Given the description of an element on the screen output the (x, y) to click on. 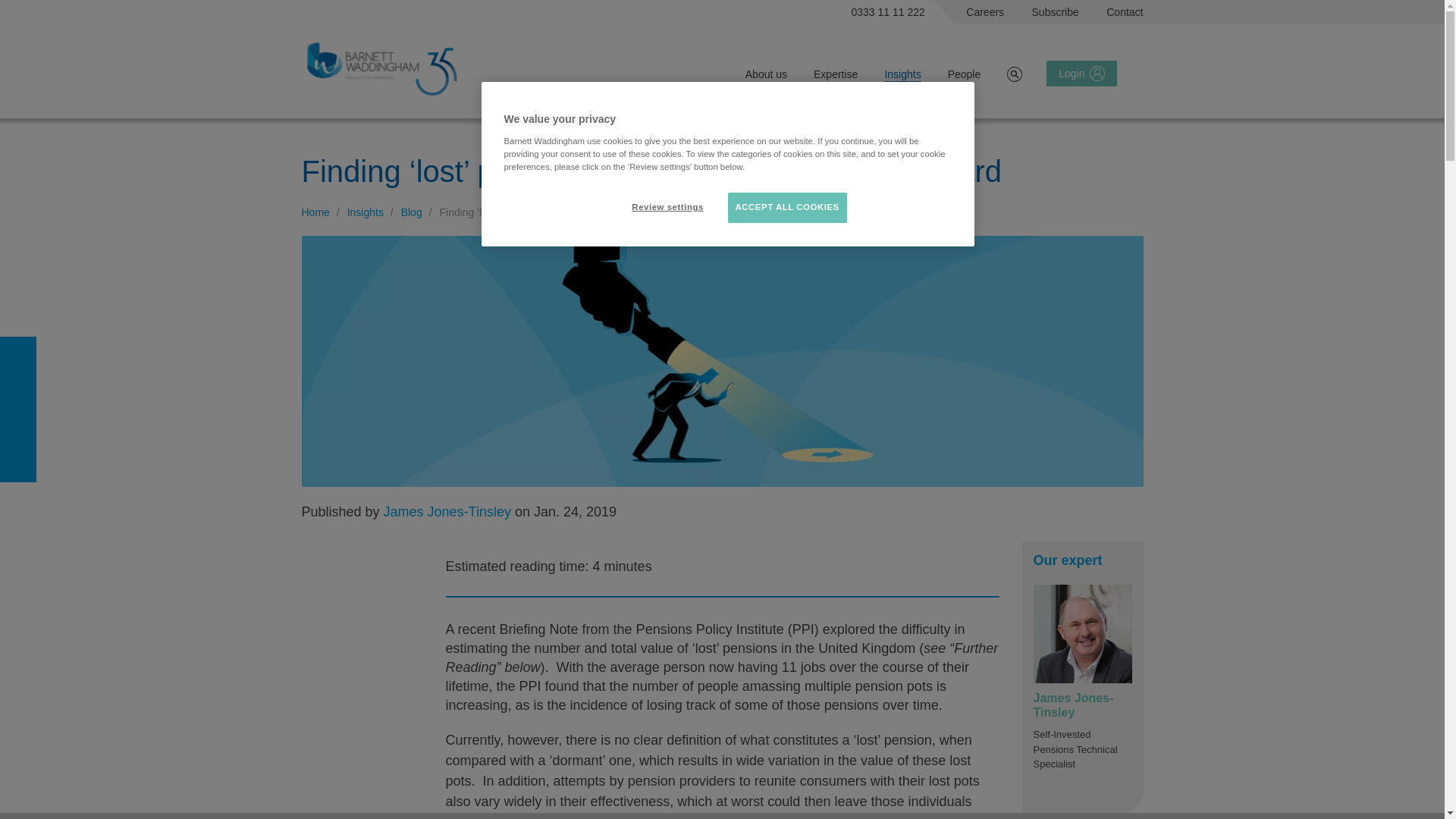
Subscribe (1055, 12)
Contact (1124, 12)
Careers (985, 12)
About us (766, 73)
Expertise (835, 73)
0333 11 11 222 (889, 12)
